Given the description of an element on the screen output the (x, y) to click on. 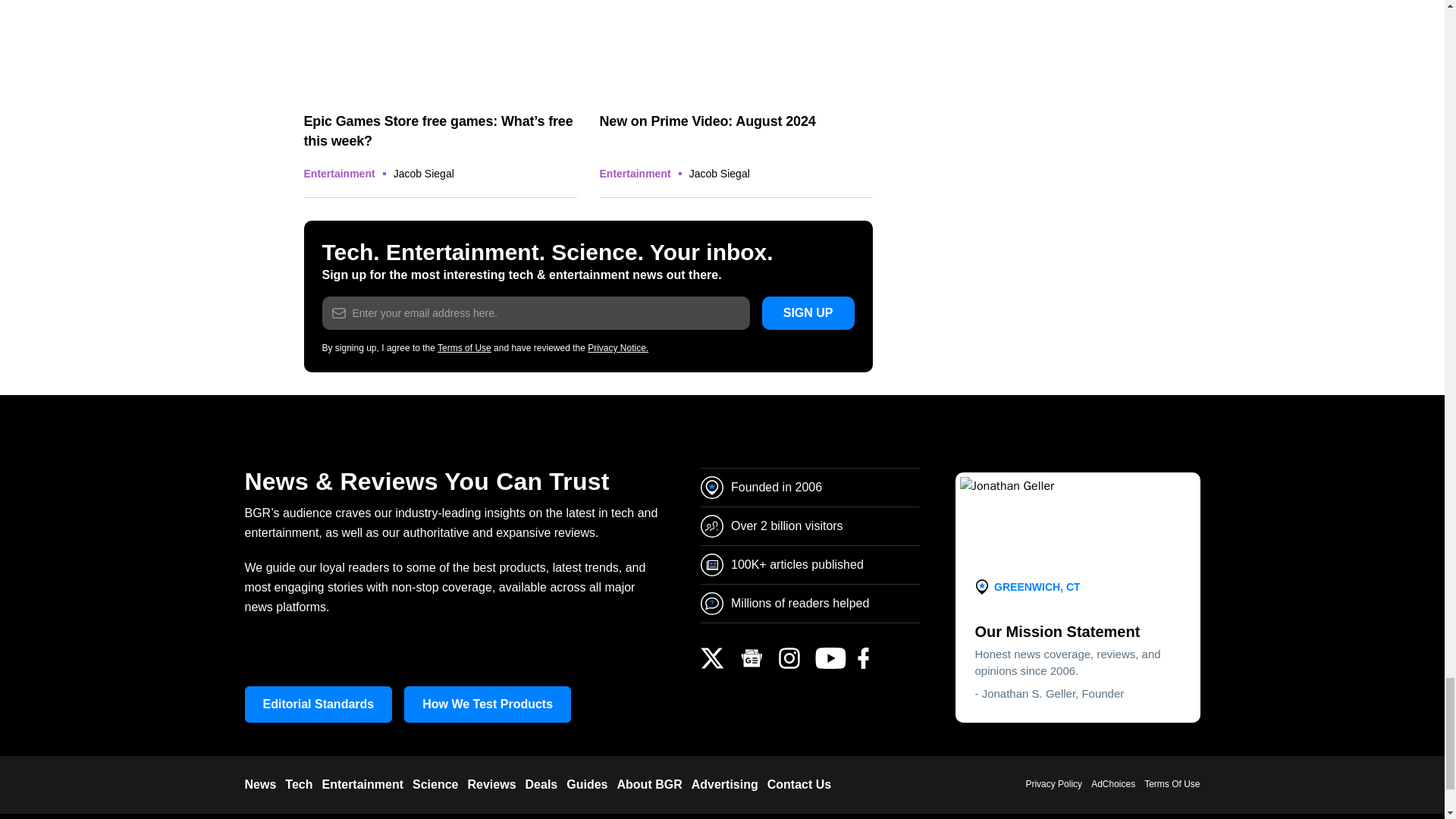
Posts by Jacob Siegal (423, 173)
Epic free games (439, 48)
